Given the description of an element on the screen output the (x, y) to click on. 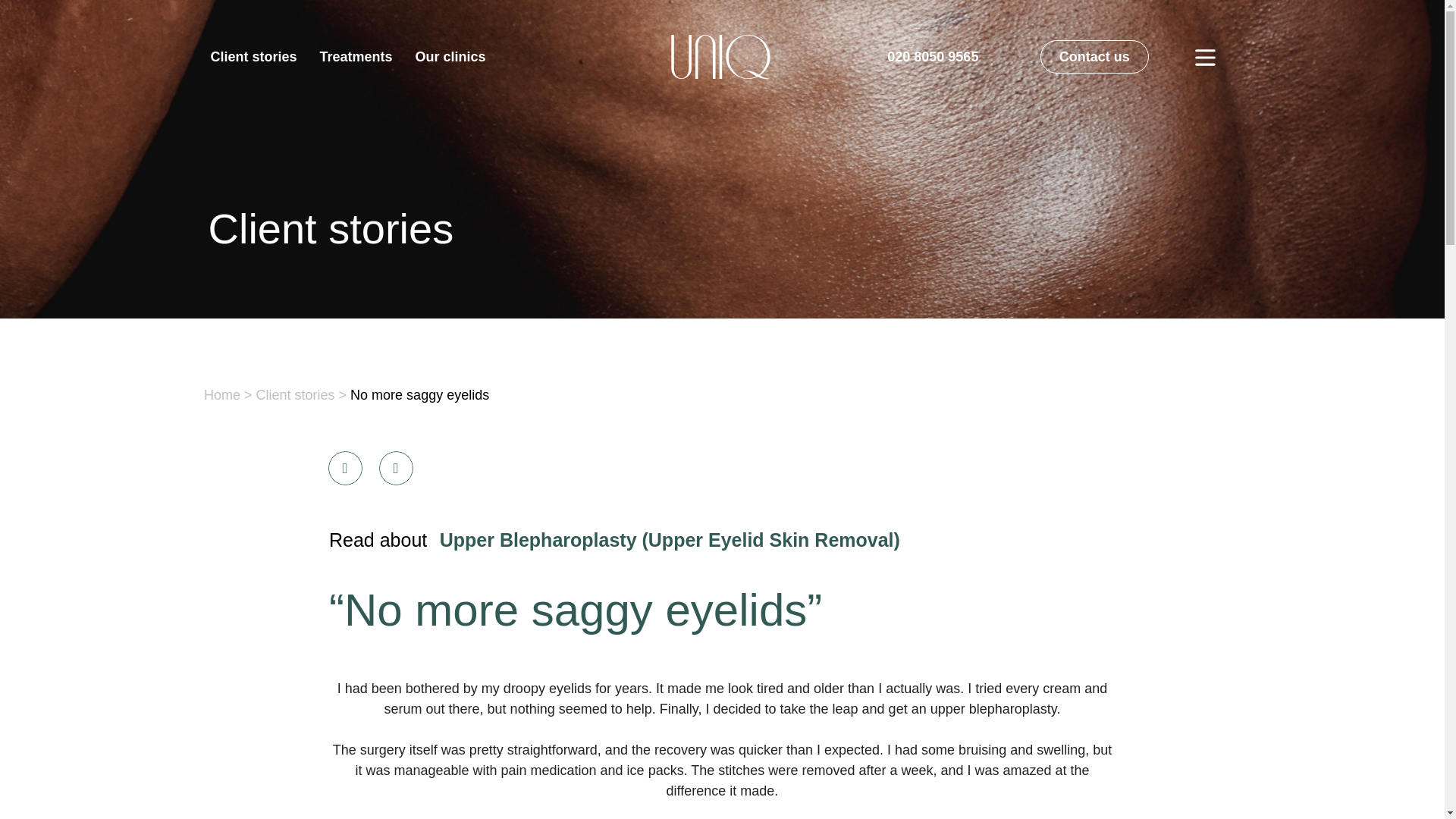
Treatments (356, 56)
020 8050 9565 (932, 56)
Home (221, 394)
Client stories (252, 56)
Contact us (1094, 56)
Our clinics (450, 56)
Client stories (295, 394)
